Given the description of an element on the screen output the (x, y) to click on. 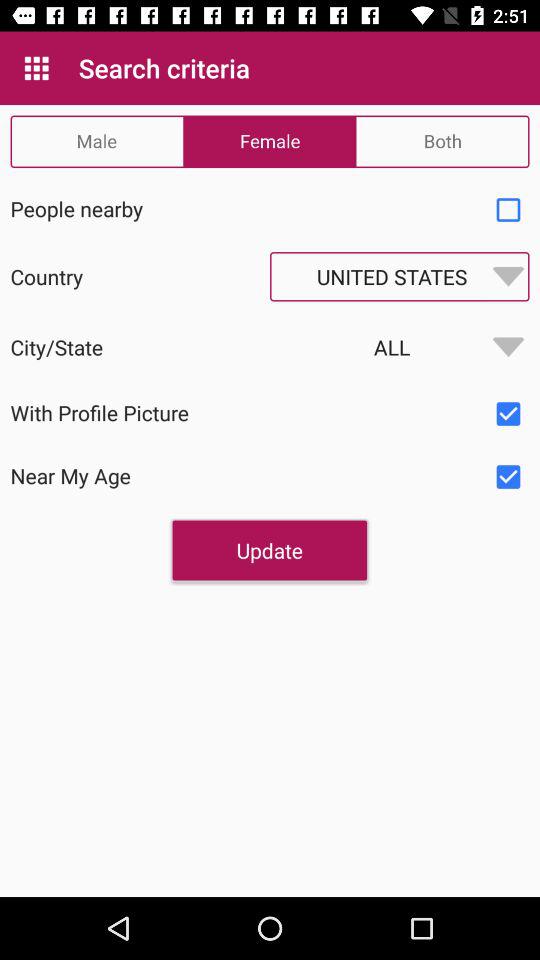
tap the app to the left of search criteria (36, 68)
